Given the description of an element on the screen output the (x, y) to click on. 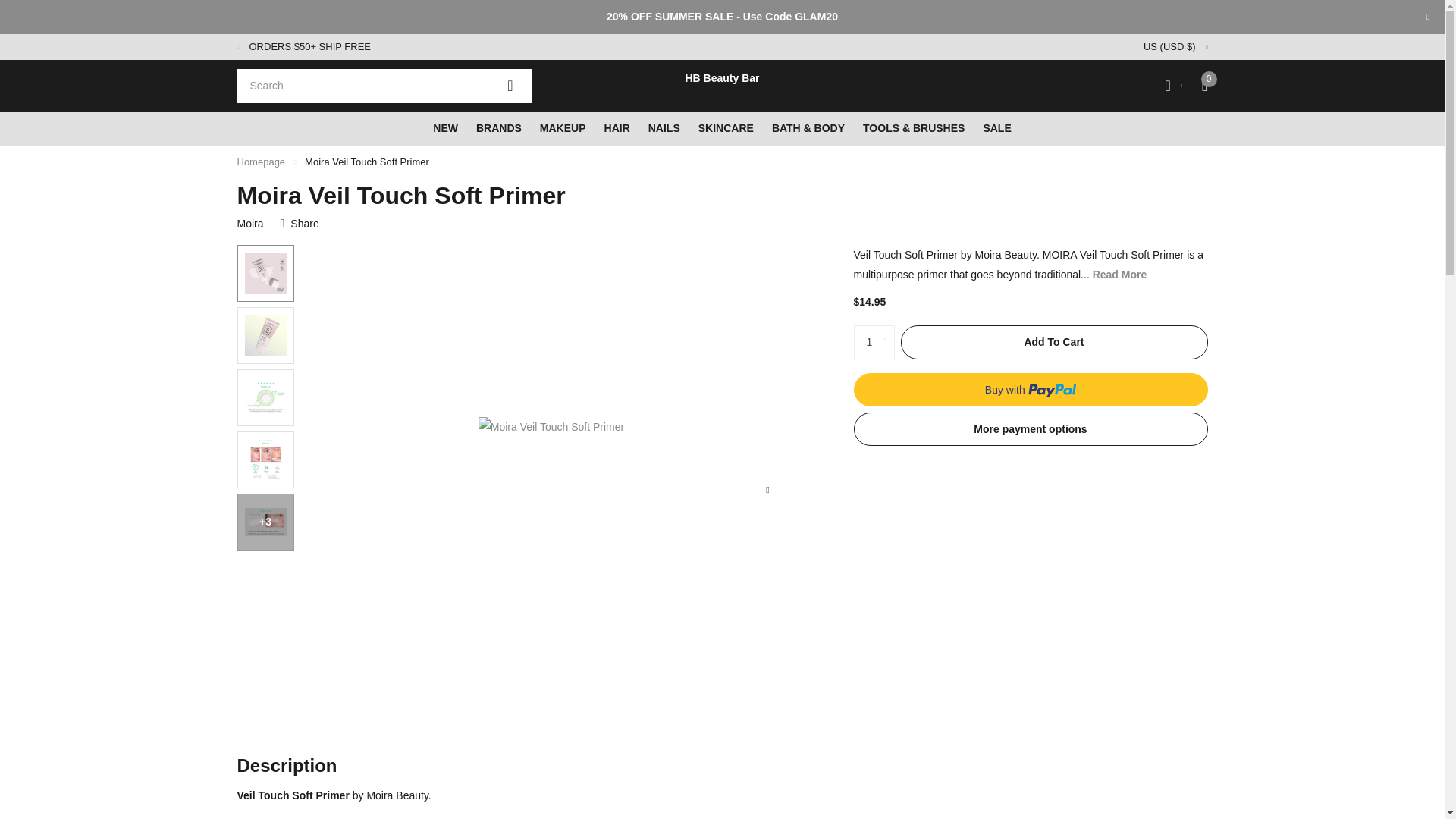
Close (1427, 17)
Home (260, 161)
1 (874, 342)
